Given the description of an element on the screen output the (x, y) to click on. 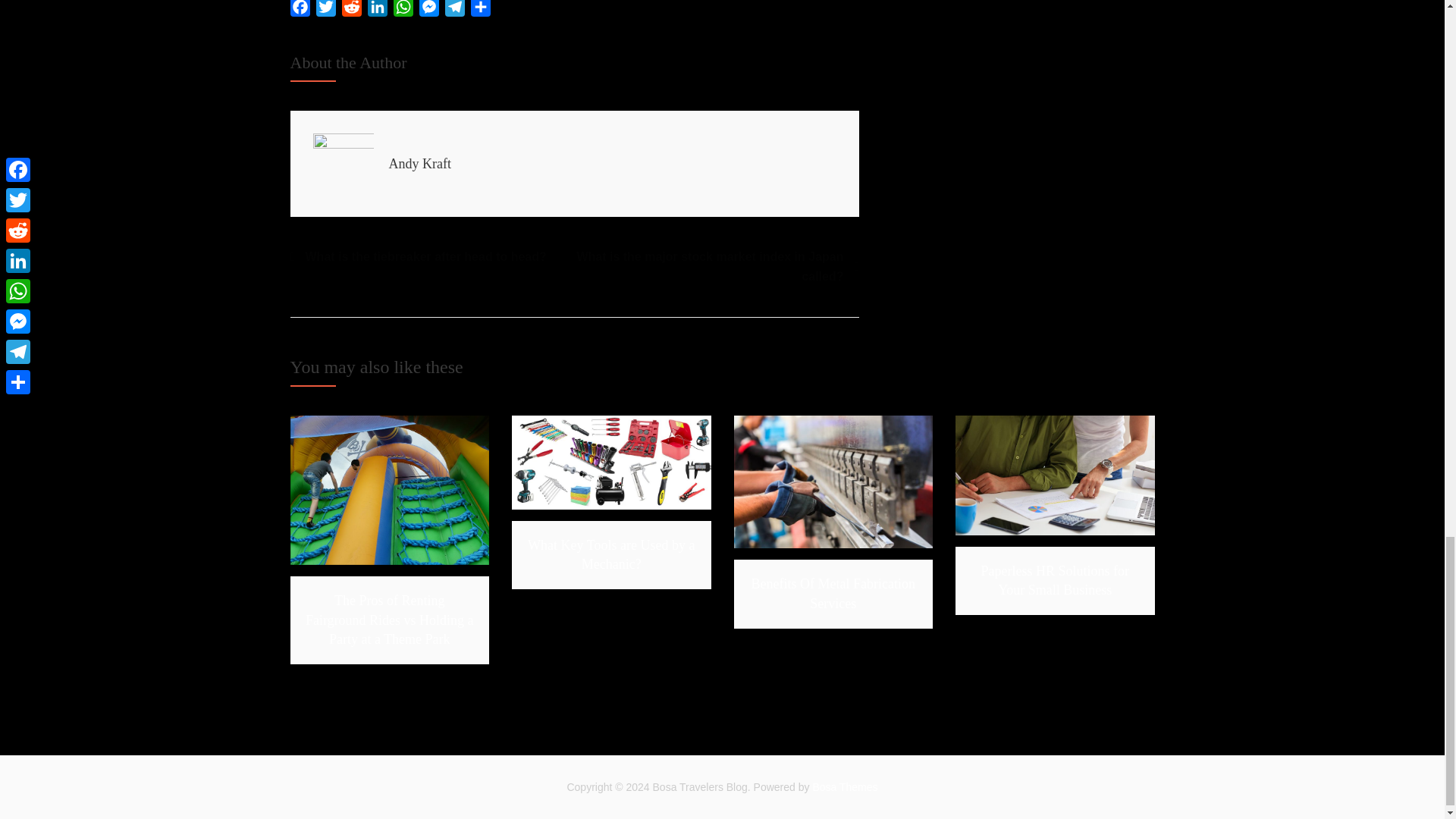
Messenger (427, 11)
Facebook (299, 11)
What is the tiebreaker after head to head? (417, 256)
LinkedIn (377, 11)
Twitter (325, 11)
Reddit (350, 11)
Reddit (350, 11)
WhatsApp (402, 11)
Share (480, 11)
LinkedIn (377, 11)
Messenger (427, 11)
What is the major stock market index in Japan called? (717, 266)
Telegram (454, 11)
Telegram (454, 11)
Facebook (299, 11)
